Given the description of an element on the screen output the (x, y) to click on. 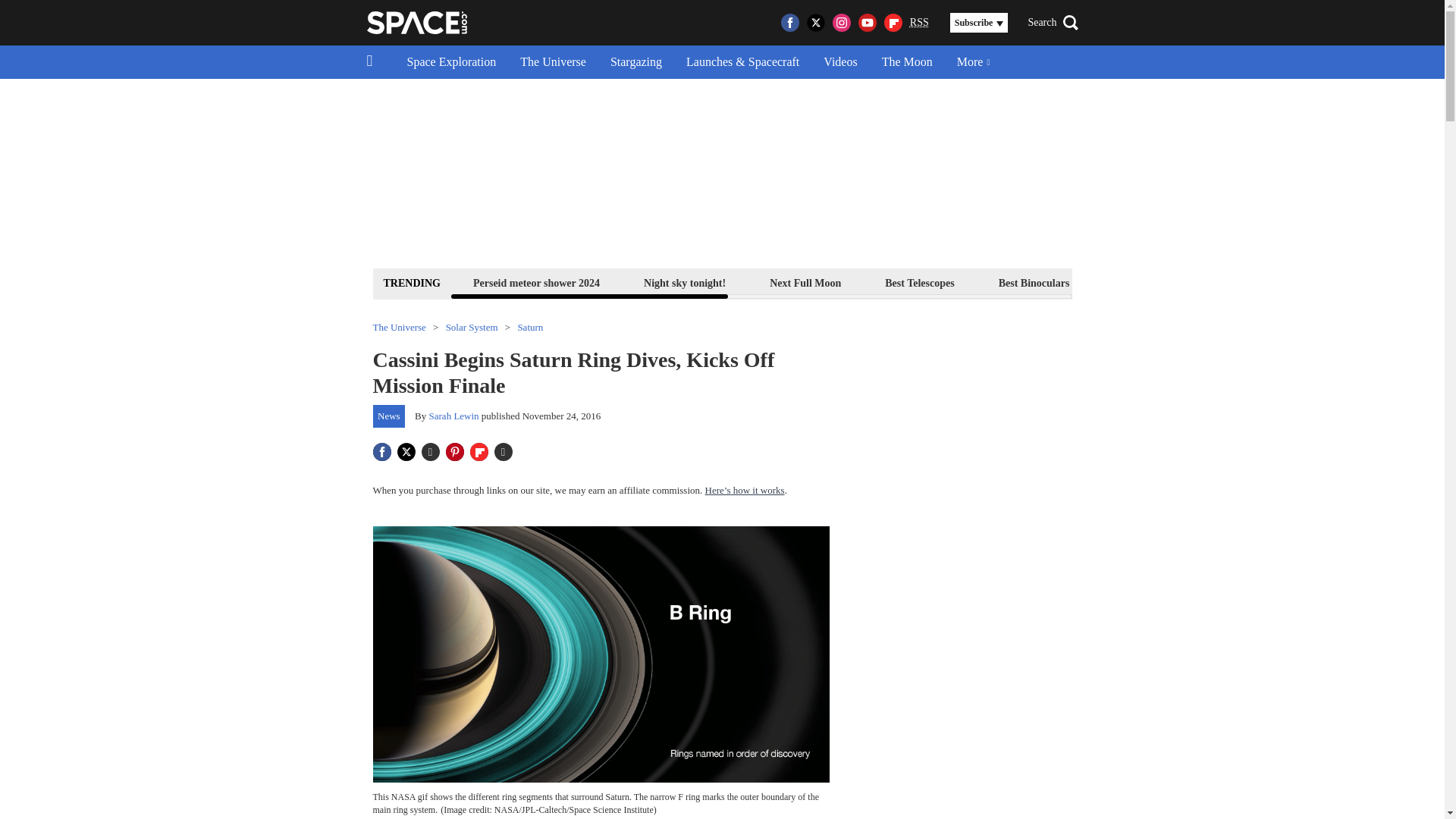
Night sky tonight! (684, 282)
RSS (919, 22)
Best Star Projectors (1158, 282)
Space Exploration (451, 61)
Next Full Moon (804, 282)
Really Simple Syndication (919, 21)
Stargazing (636, 61)
Perseid meteor shower 2024 (536, 282)
The Universe (553, 61)
Best Binoculars (1033, 282)
